Given the description of an element on the screen output the (x, y) to click on. 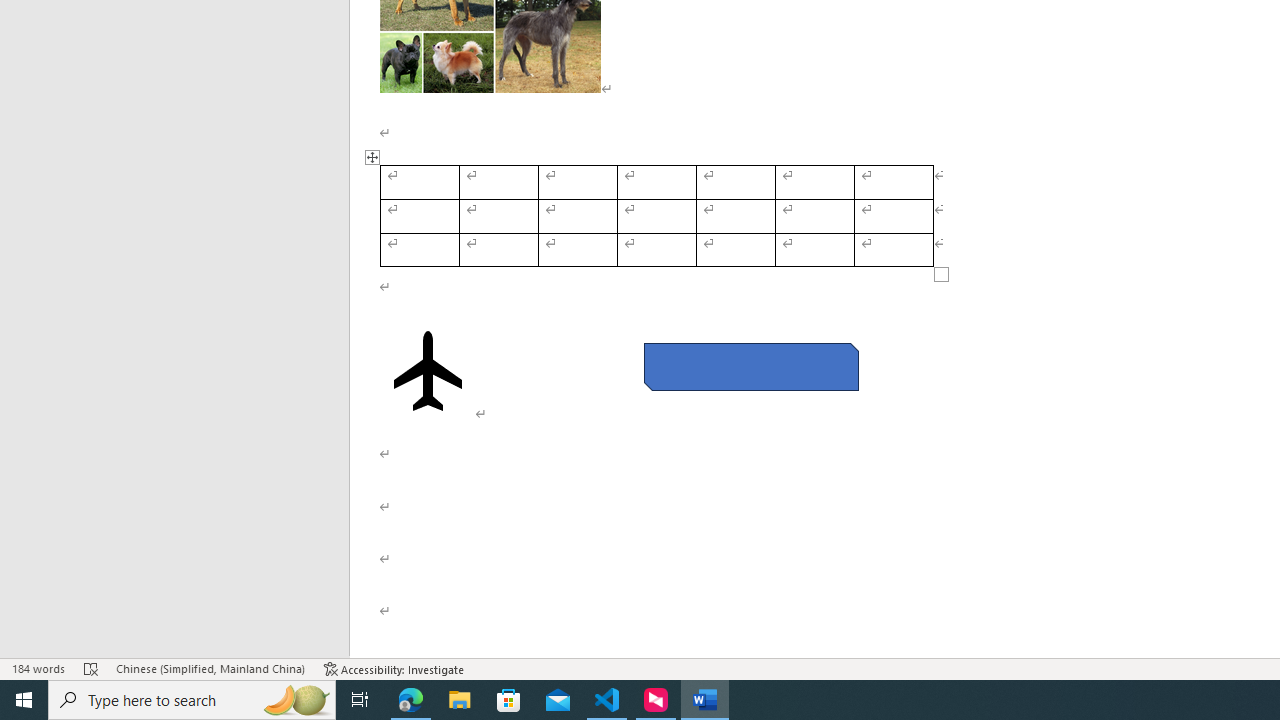
Word - 1 running window (704, 699)
Airplane with solid fill (428, 371)
Microsoft Store (509, 699)
